Given the description of an element on the screen output the (x, y) to click on. 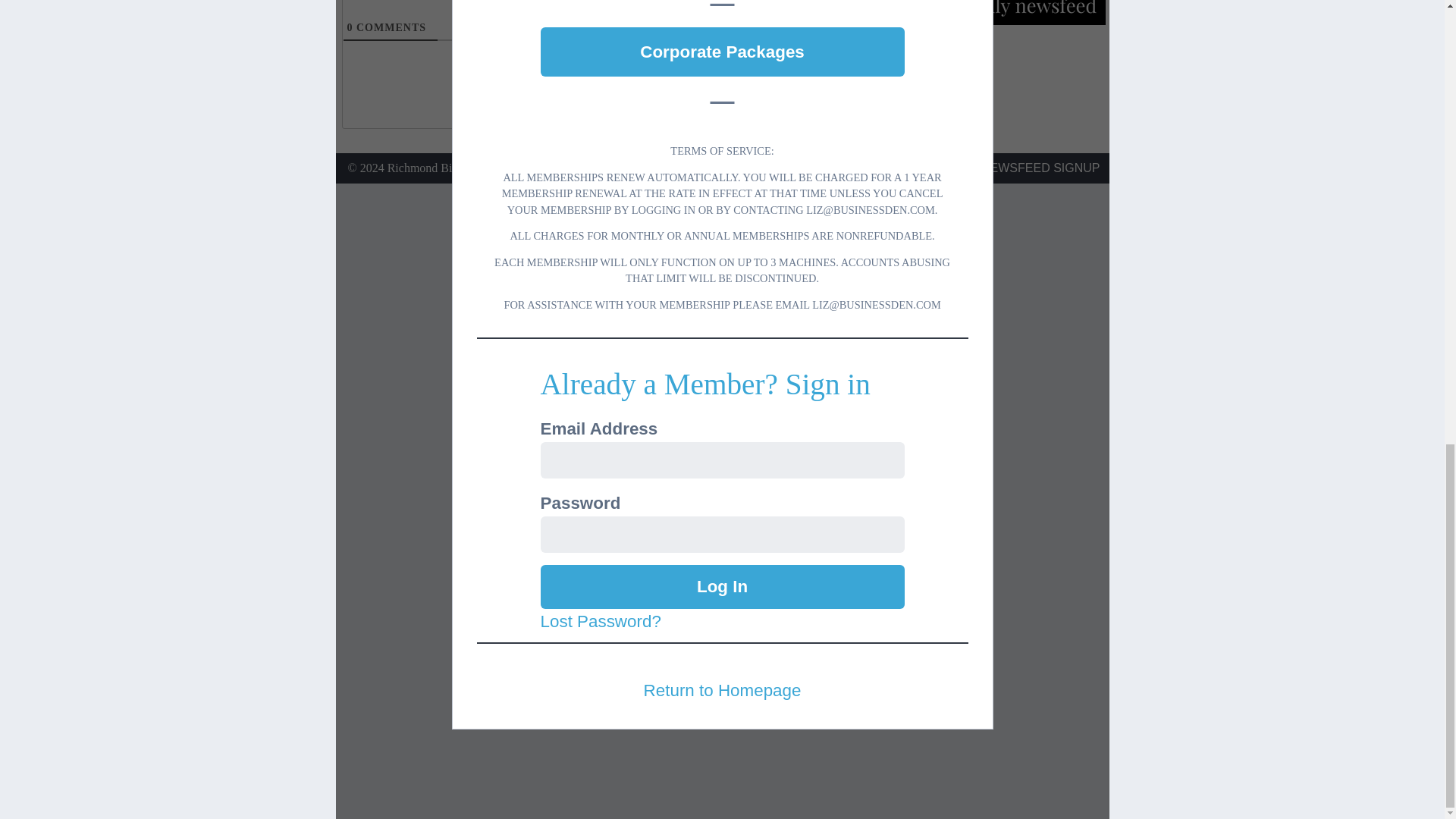
Log In (722, 587)
